Given the description of an element on the screen output the (x, y) to click on. 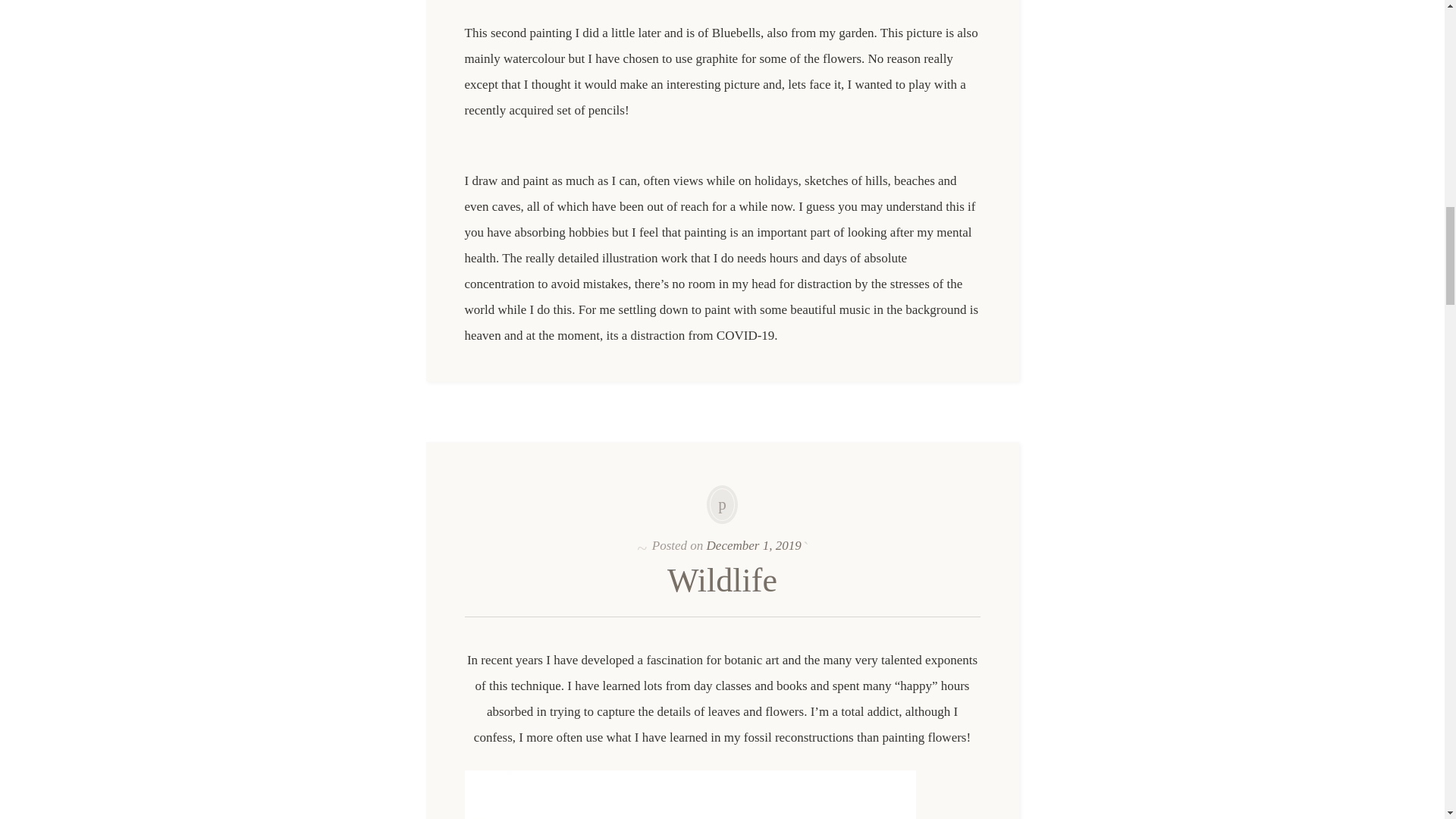
Wildlife (721, 579)
December 1, 2019 (754, 545)
